Given the description of an element on the screen output the (x, y) to click on. 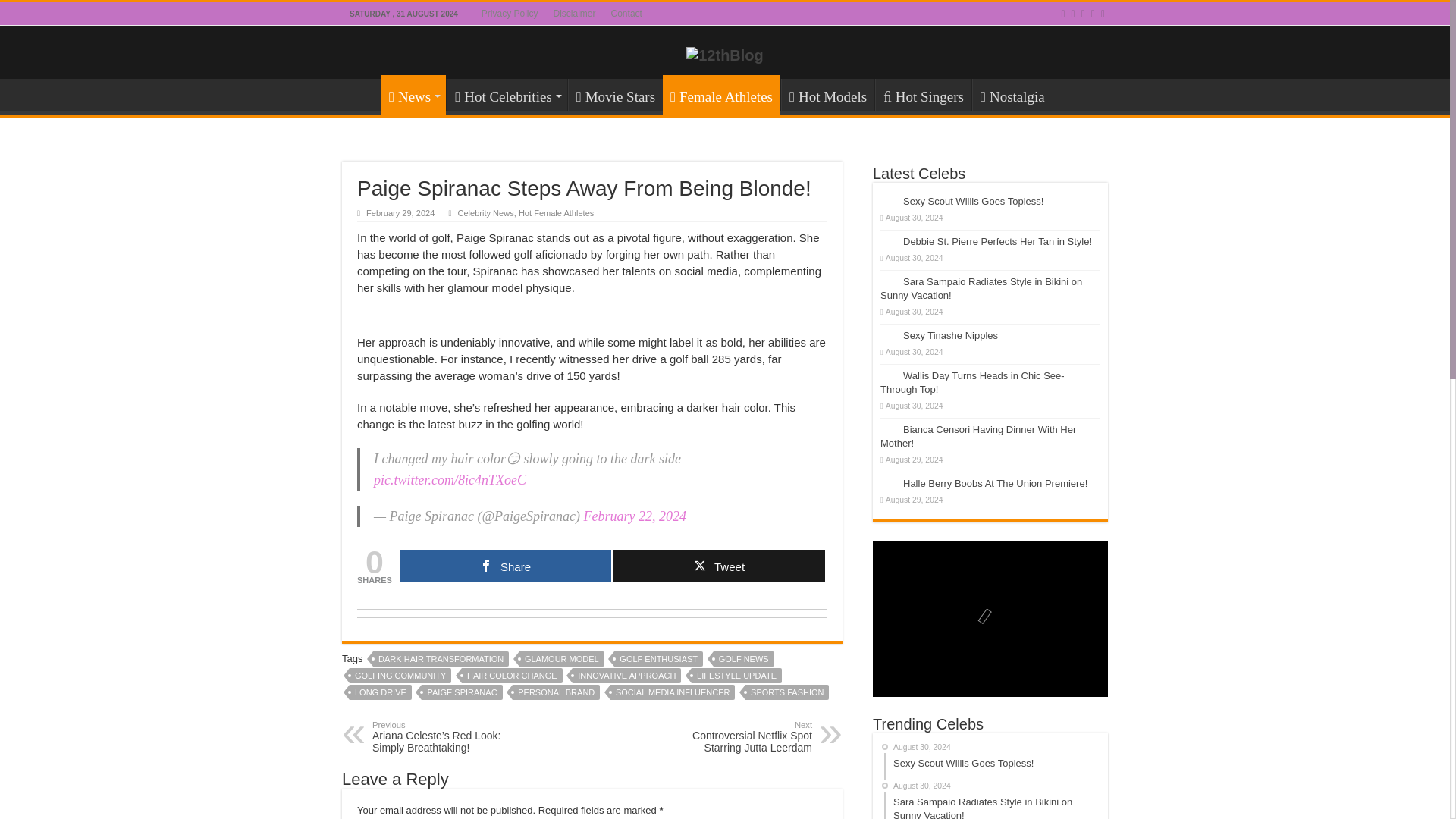
Contact (626, 13)
Home (361, 94)
12thBlog (723, 54)
Home (361, 94)
Hot Celebrities (506, 94)
News (413, 94)
Disclaimer (575, 13)
Privacy Policy (510, 13)
